Given the description of an element on the screen output the (x, y) to click on. 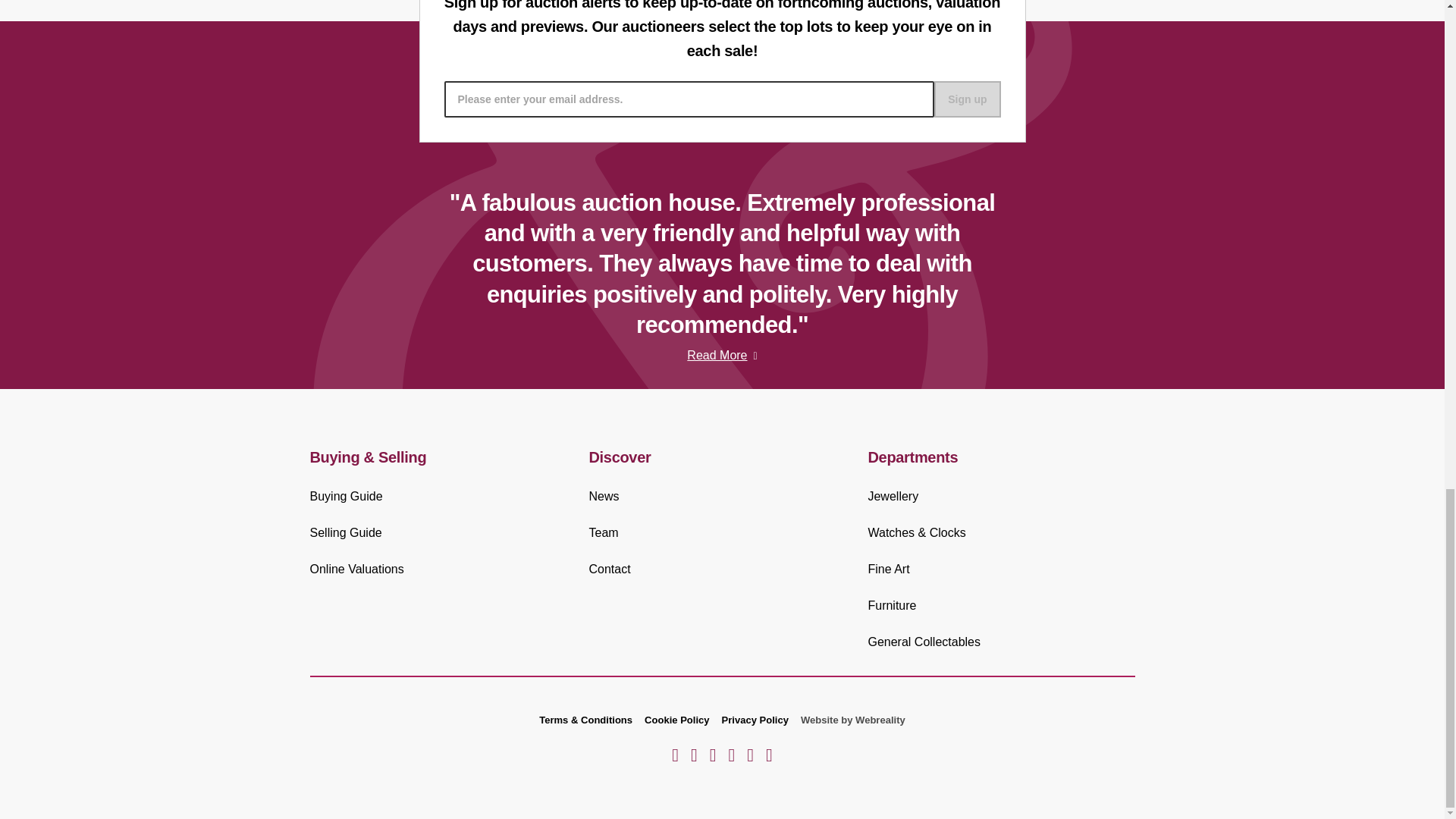
Sign up (967, 99)
